Given the description of an element on the screen output the (x, y) to click on. 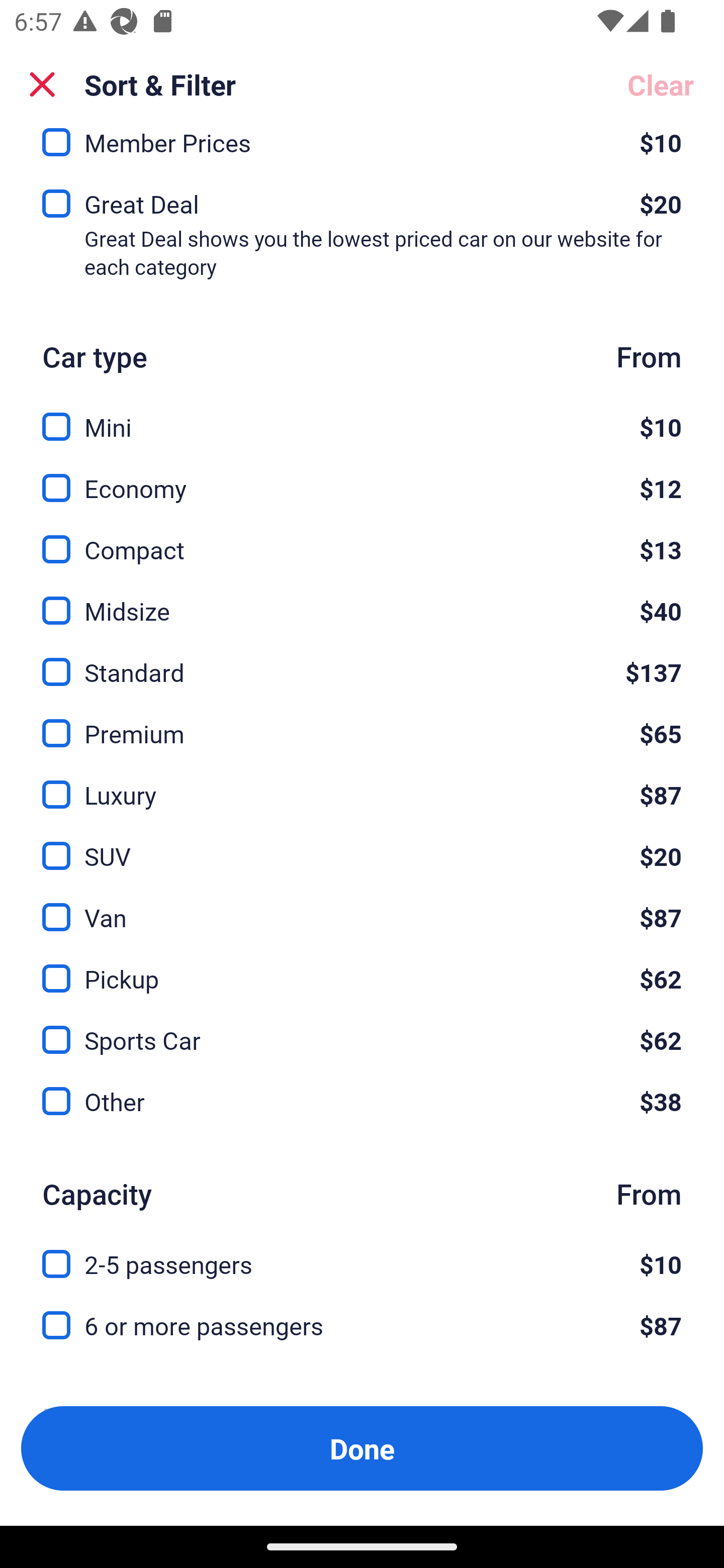
Close Sort and Filter (42, 84)
Clear (660, 84)
Member Prices, $10 Member Prices $10 (361, 150)
Mini, $10 Mini $10 (361, 415)
Economy, $12 Economy $12 (361, 477)
Compact, $13 Compact $13 (361, 538)
Midsize, $40 Midsize $40 (361, 599)
Standard, $137 Standard $137 (361, 660)
Premium, $65 Premium $65 (361, 721)
Luxury, $87 Luxury $87 (361, 782)
SUV, $20 SUV $20 (361, 843)
Van, $87 Van $87 (361, 905)
Pickup, $62 Pickup $62 (361, 967)
Sports Car, $62 Sports Car $62 (361, 1028)
Other, $38 Other $38 (361, 1101)
2-5 passengers, $10 2-5 passengers $10 (361, 1252)
6 or more passengers, $87 6 or more passengers $87 (361, 1325)
Apply and close Sort and Filter Done (361, 1448)
